Given the description of an element on the screen output the (x, y) to click on. 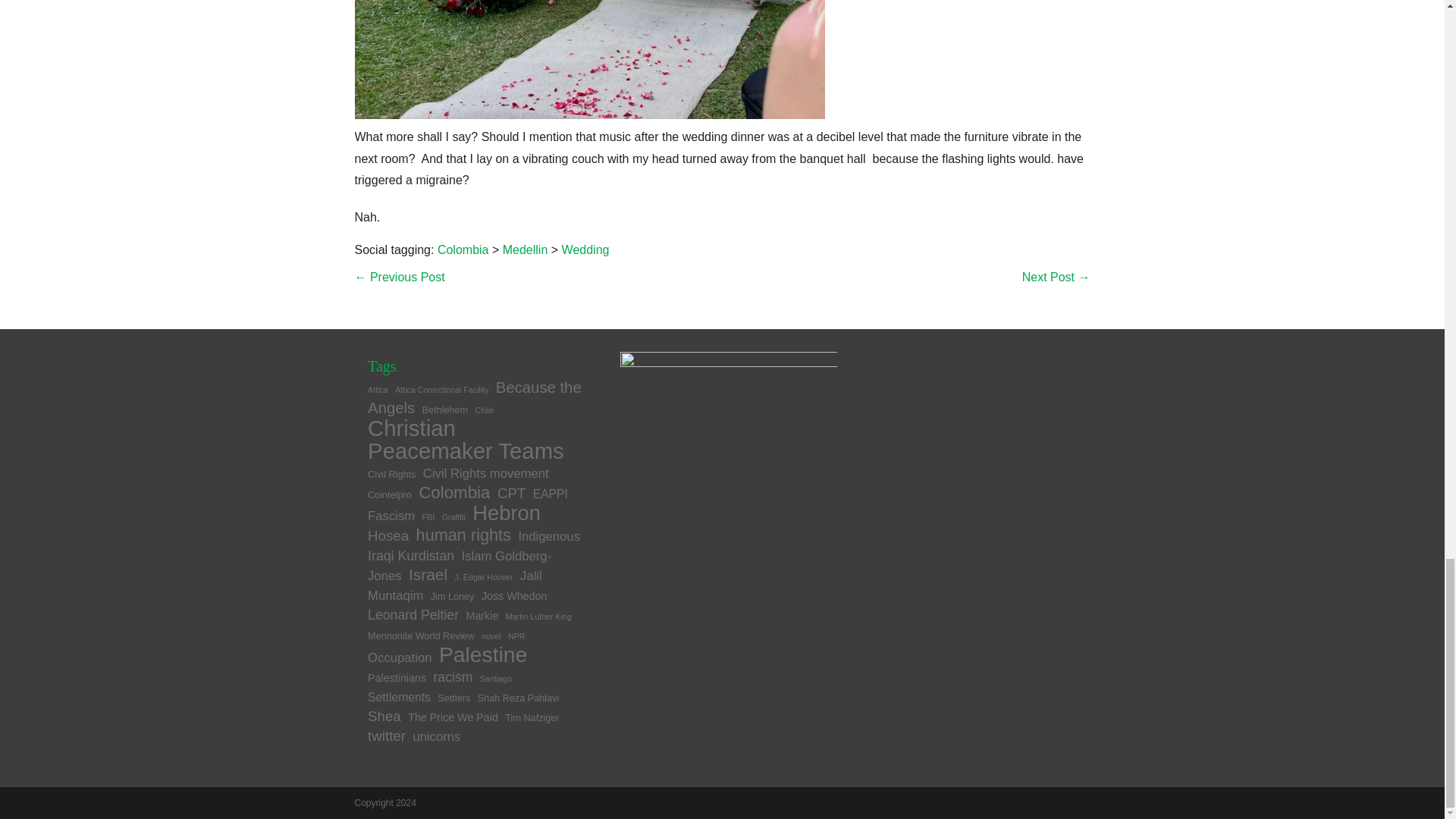
FBI (428, 516)
Wedding (586, 249)
Bethlehem (445, 409)
Graffiti (453, 516)
Civil Rights (391, 474)
Fascism (391, 515)
Medellin (525, 249)
Cointelpro (390, 494)
Colombia (454, 492)
human rights (463, 534)
